Given the description of an element on the screen output the (x, y) to click on. 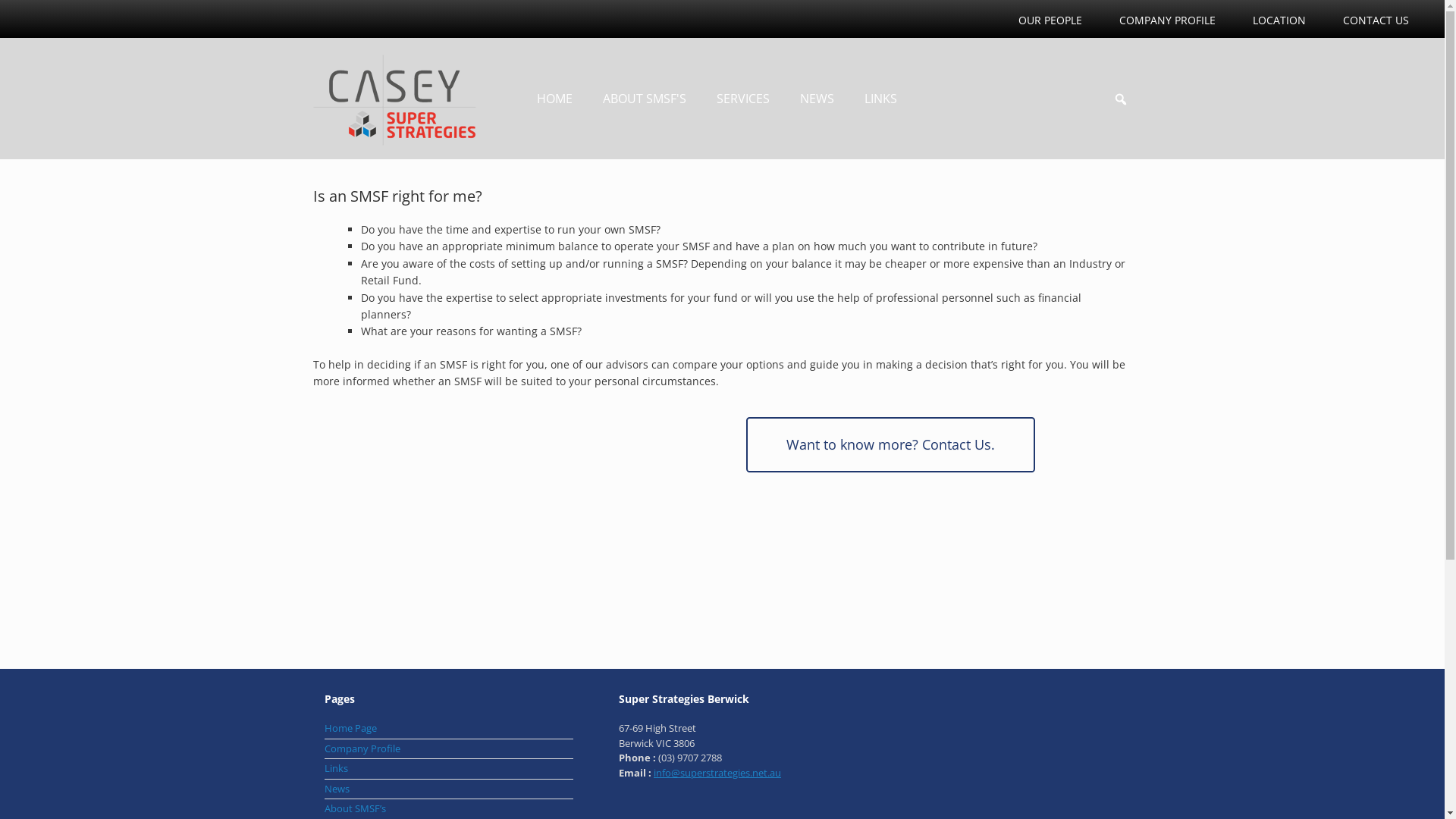
LINKS Element type: text (880, 98)
SERVICES Element type: text (742, 98)
OUR PEOPLE Element type: text (1049, 18)
Company Profile Element type: text (449, 750)
CONTACT US Element type: text (1375, 18)
NEWS Element type: text (815, 98)
info@superstrategies.net.au Element type: text (717, 772)
COMPANY PROFILE Element type: text (1167, 18)
ABOUT SMSF'S Element type: text (643, 98)
LOCATION Element type: text (1279, 18)
Links Element type: text (449, 770)
News Element type: text (449, 790)
Want to know more? Contact Us. Element type: text (890, 444)
Search Element type: text (15, 14)
HOME Element type: text (554, 98)
Home Page Element type: text (449, 730)
